Given the description of an element on the screen output the (x, y) to click on. 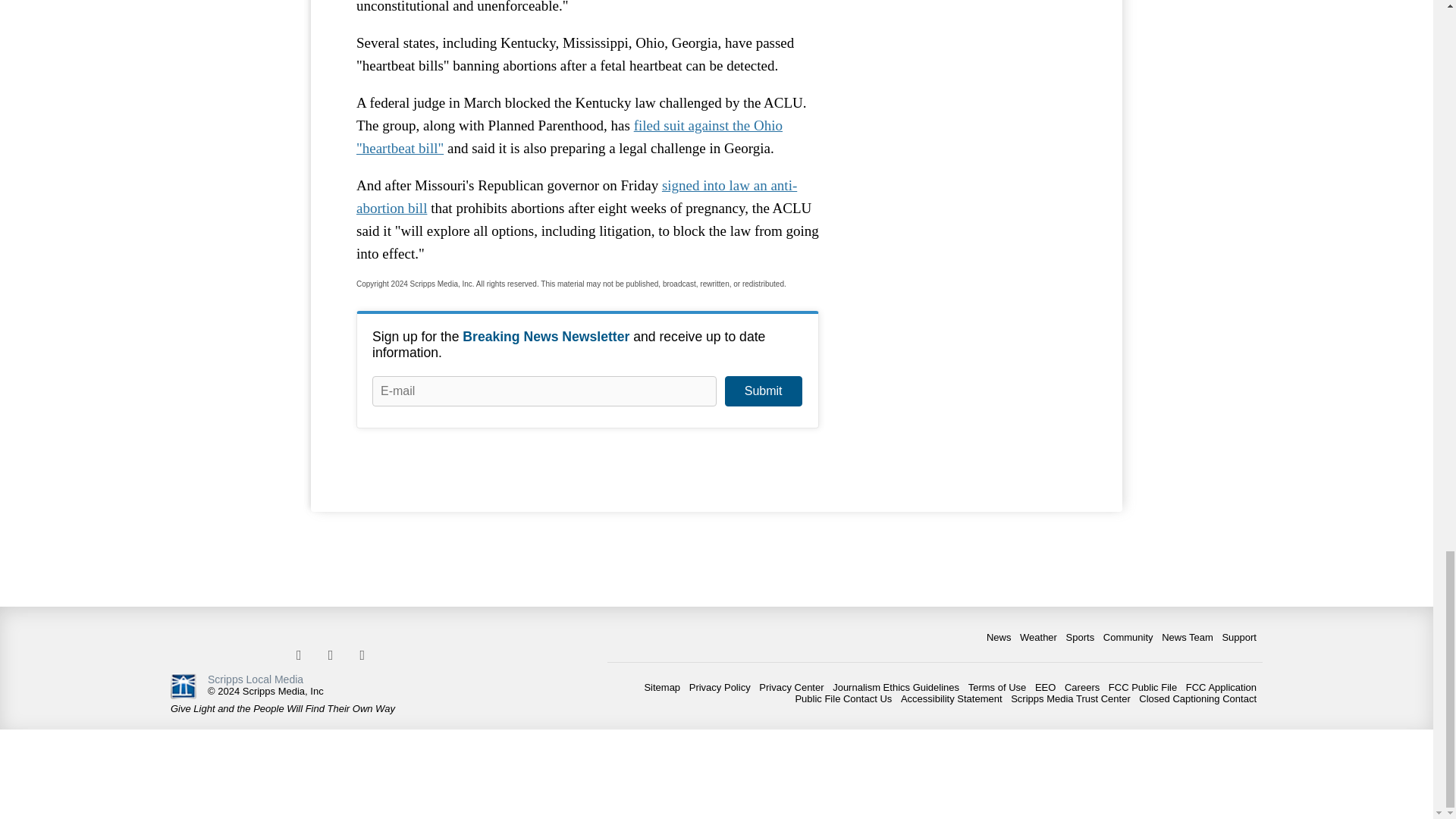
Submit (763, 390)
